Given the description of an element on the screen output the (x, y) to click on. 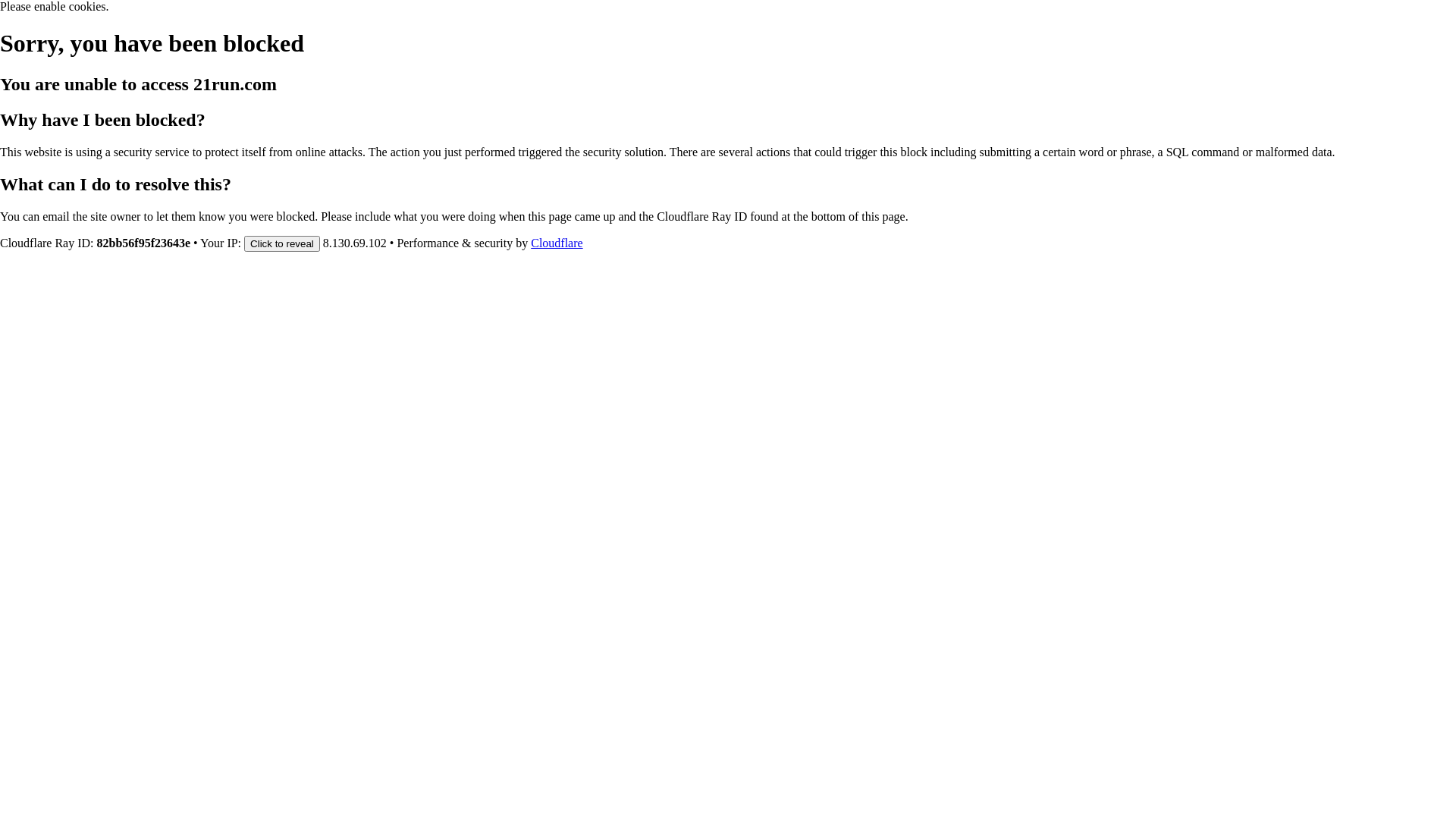
Cloudflare Element type: text (556, 242)
Click to reveal Element type: text (282, 243)
